Given the description of an element on the screen output the (x, y) to click on. 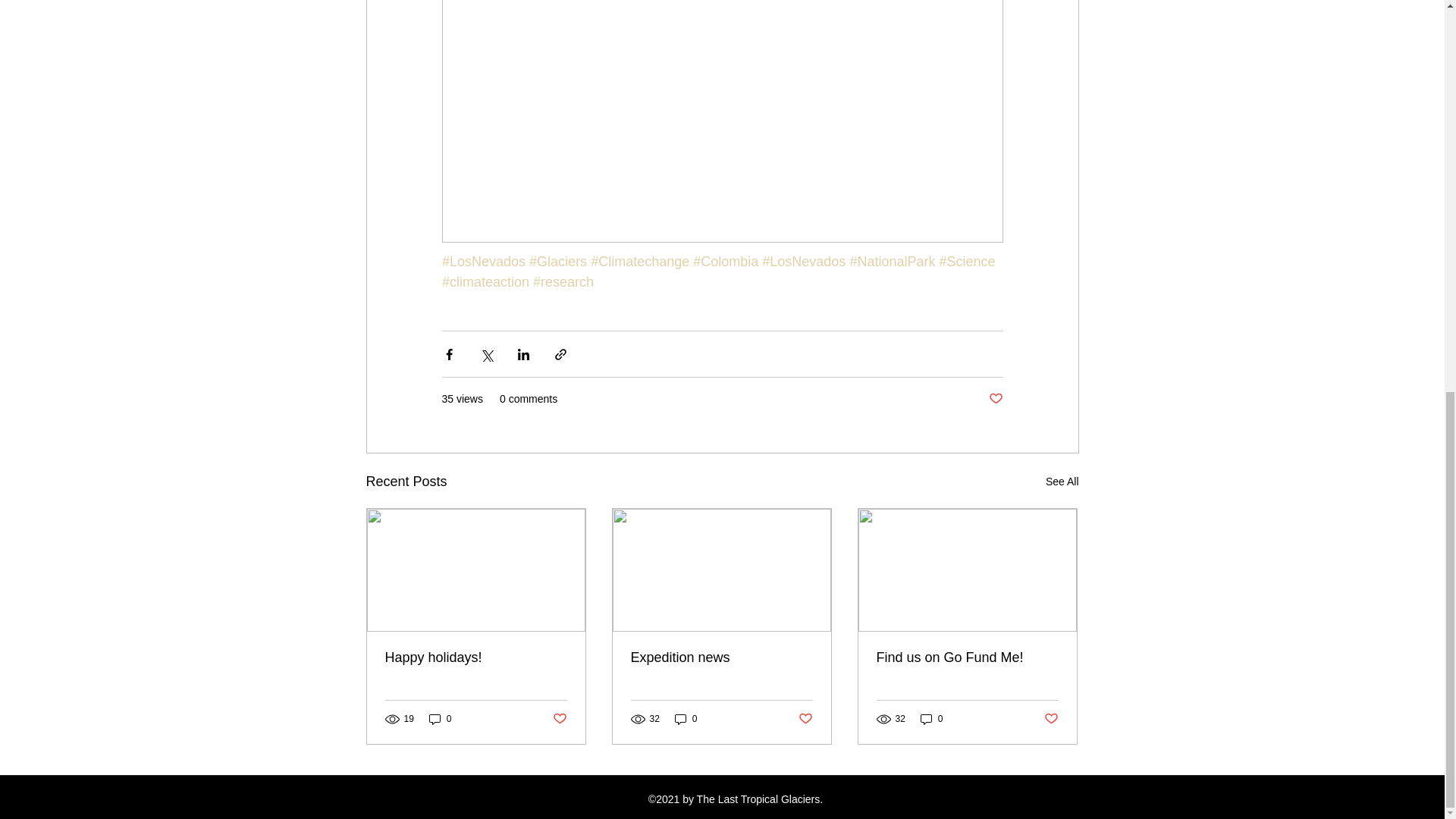
Post not marked as liked (804, 719)
0 (931, 718)
Happy holidays! (476, 657)
See All (1061, 481)
Post not marked as liked (995, 399)
Find us on Go Fund Me! (967, 657)
0 (685, 718)
Expedition news (721, 657)
0 (440, 718)
Post not marked as liked (558, 719)
